Given the description of an element on the screen output the (x, y) to click on. 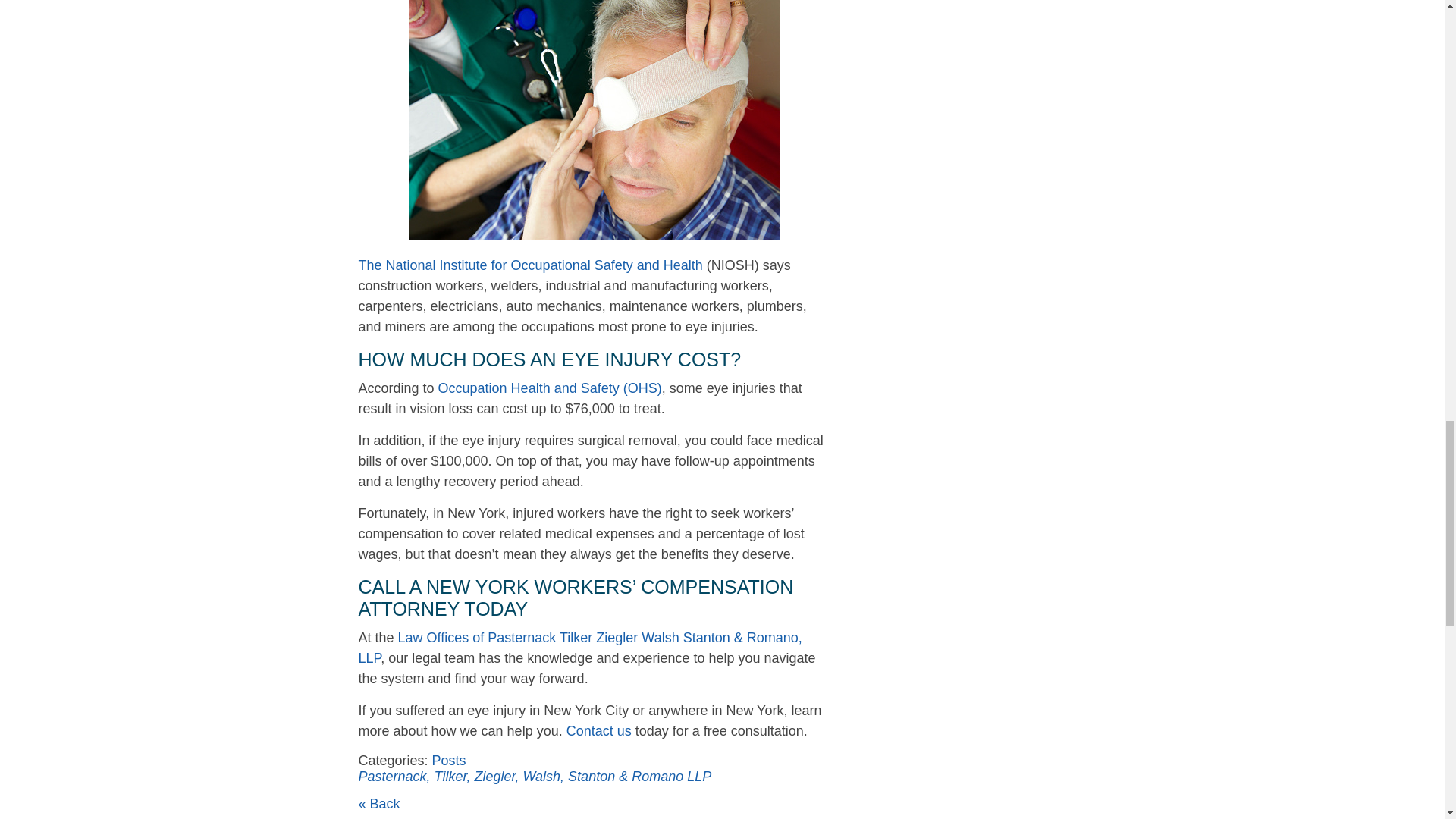
The National Institute for Occupational Safety and Health (529, 264)
